Given the description of an element on the screen output the (x, y) to click on. 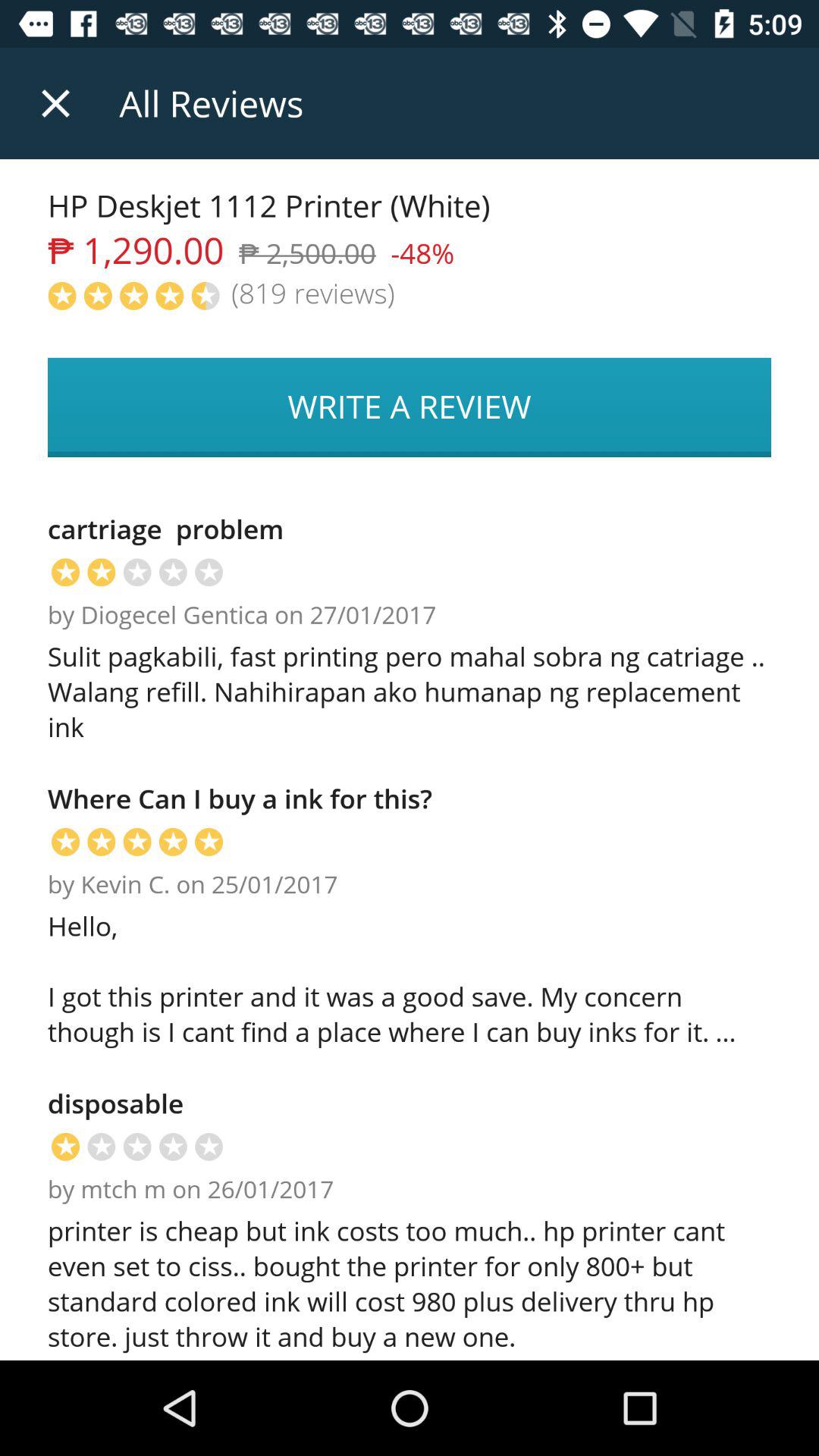
turn on icon next to the all reviews (55, 103)
